Given the description of an element on the screen output the (x, y) to click on. 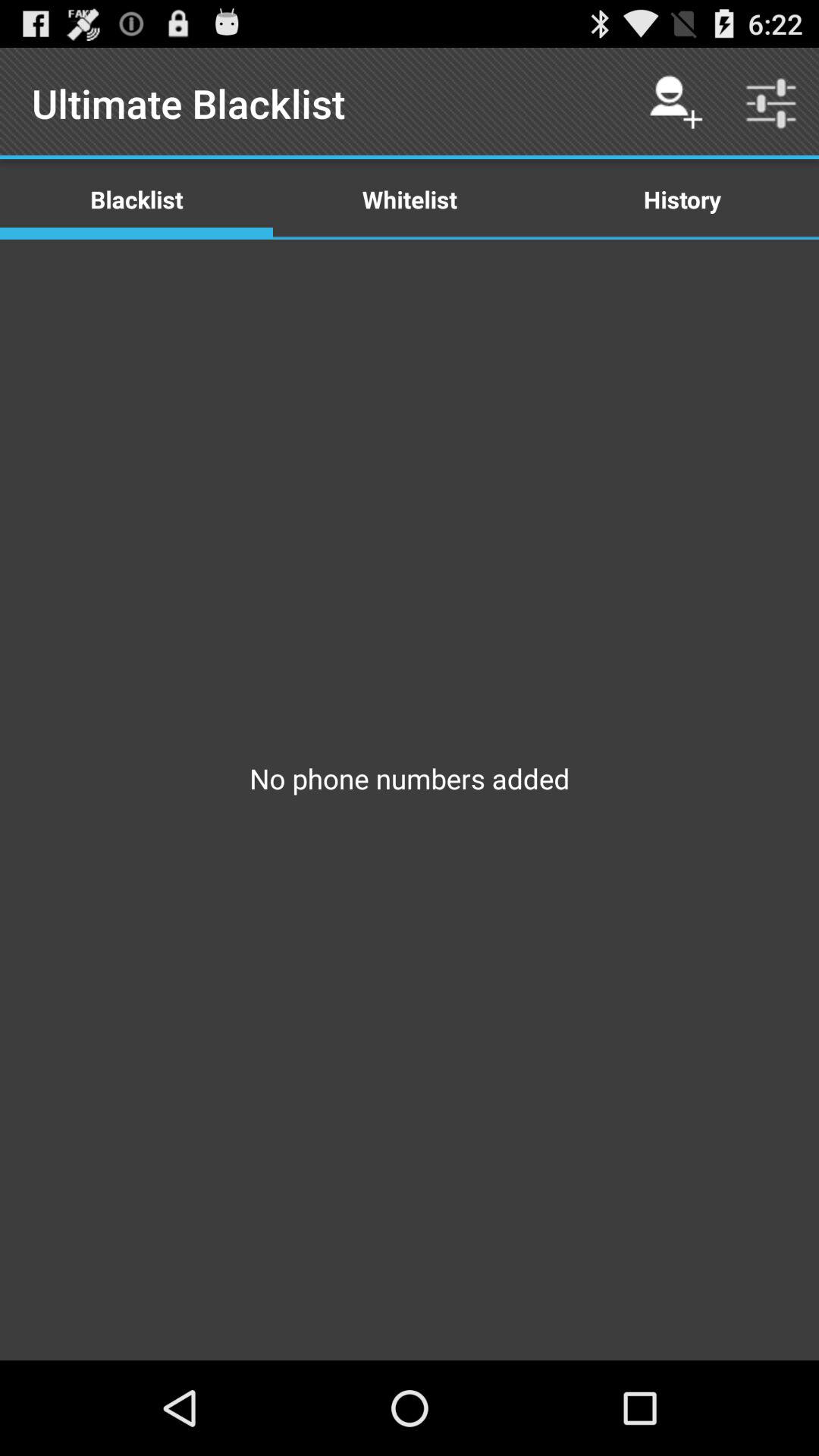
turn off the icon to the right of the whitelist (675, 103)
